Given the description of an element on the screen output the (x, y) to click on. 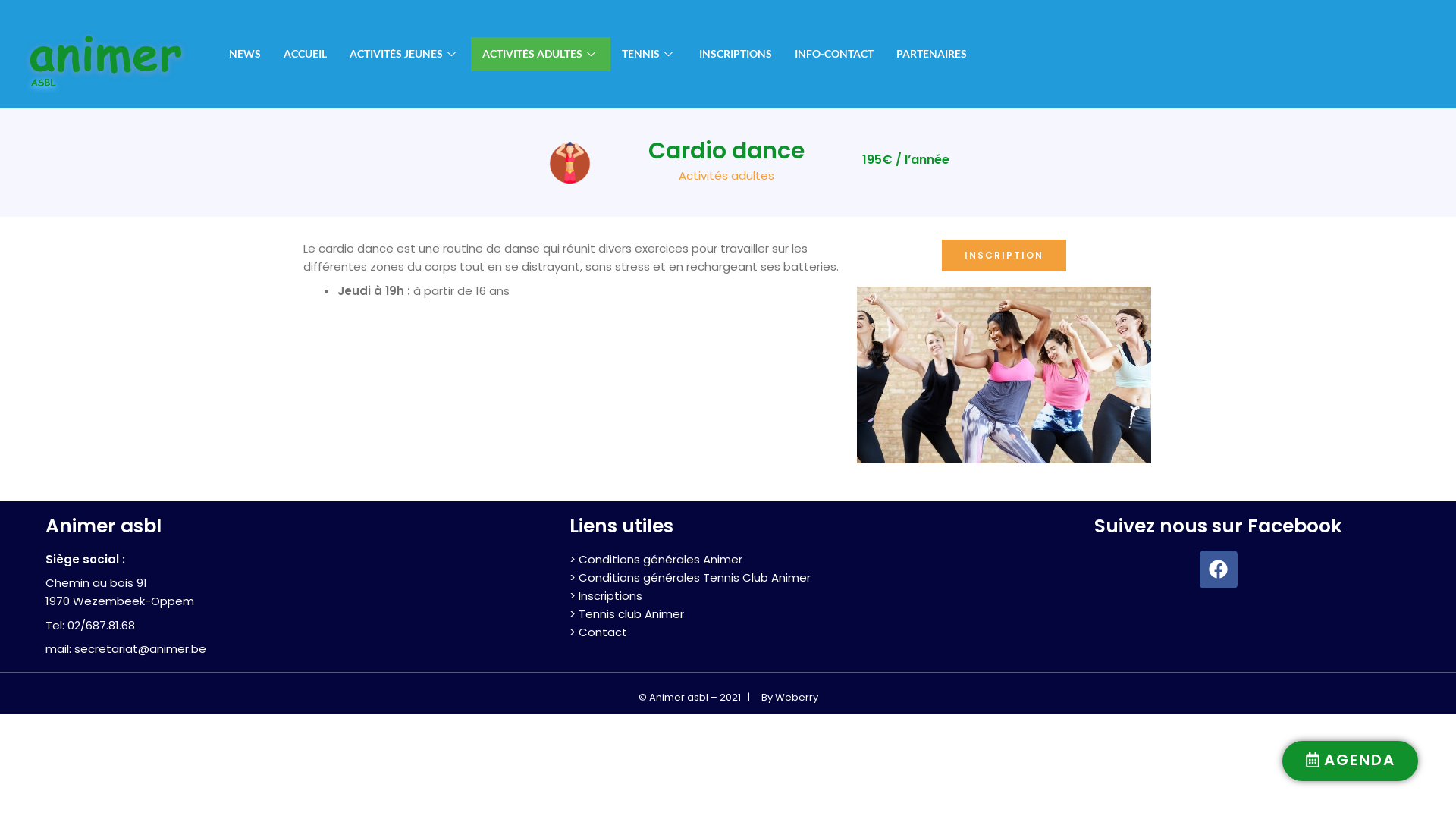
TENNIS Element type: text (648, 54)
> Inscriptions Element type: text (605, 595)
INSCRIPTIONS Element type: text (735, 54)
By Weberry Element type: text (789, 697)
> Contact Element type: text (598, 632)
ACCUEIL Element type: text (305, 54)
INFO-CONTACT Element type: text (833, 54)
INSCRIPTION Element type: text (1003, 255)
AGENDA Element type: text (1350, 760)
NEWS Element type: text (244, 54)
PARTENAIRES Element type: text (931, 54)
Suivez nous sur Facebook Element type: text (1218, 525)
> Tennis club Animer Element type: text (626, 613)
